Given the description of an element on the screen output the (x, y) to click on. 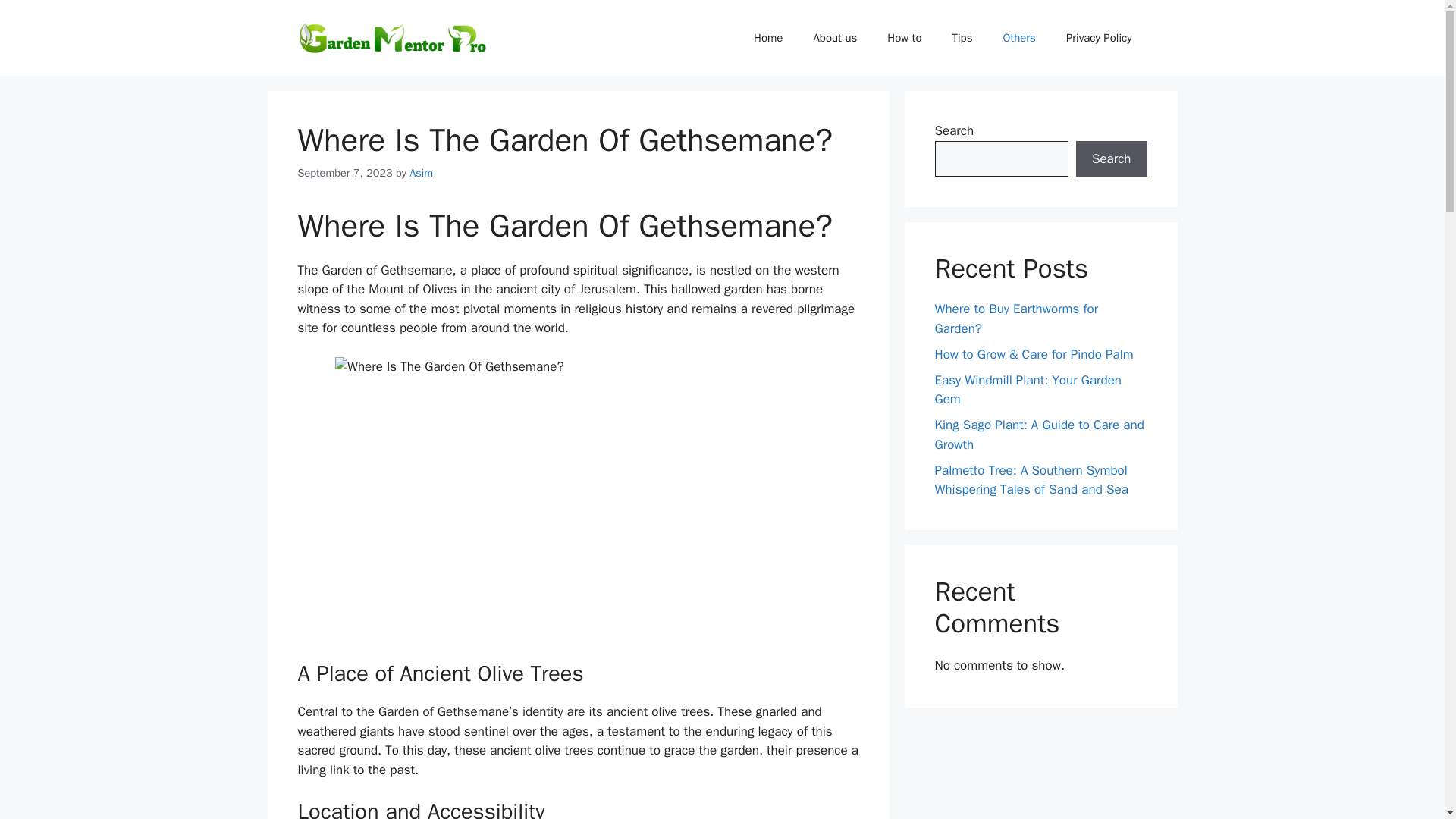
Home (767, 37)
Tips (962, 37)
Privacy Policy (1099, 37)
King Sago Plant: A Guide to Care and Growth (1038, 434)
Easy Windmill Plant: Your Garden Gem (1027, 389)
View all posts by Asim (420, 172)
Asim (420, 172)
Others (1018, 37)
How to (904, 37)
About us (834, 37)
Where to Buy Earthworms for Garden? (1015, 318)
Search (1111, 158)
